Given the description of an element on the screen output the (x, y) to click on. 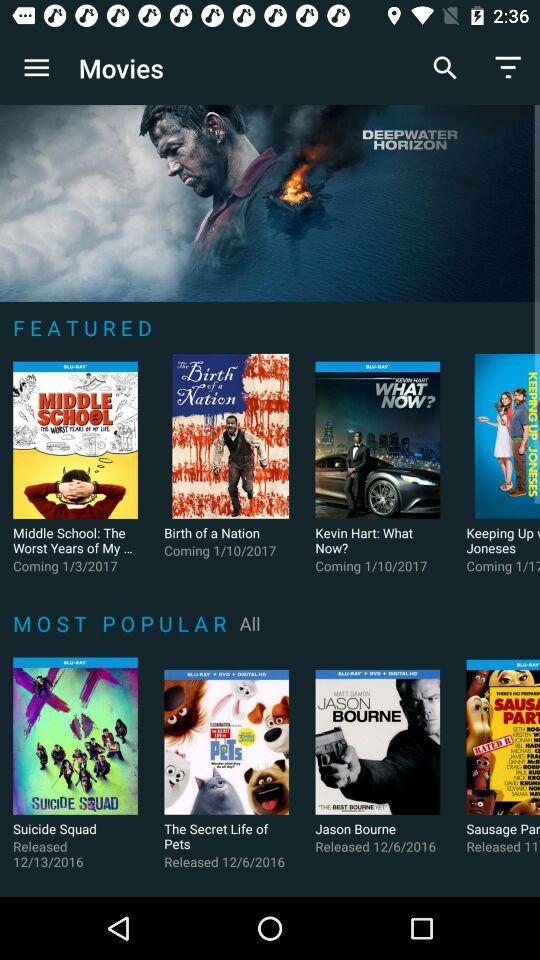
turn on the icon next to the movies (36, 68)
